Given the description of an element on the screen output the (x, y) to click on. 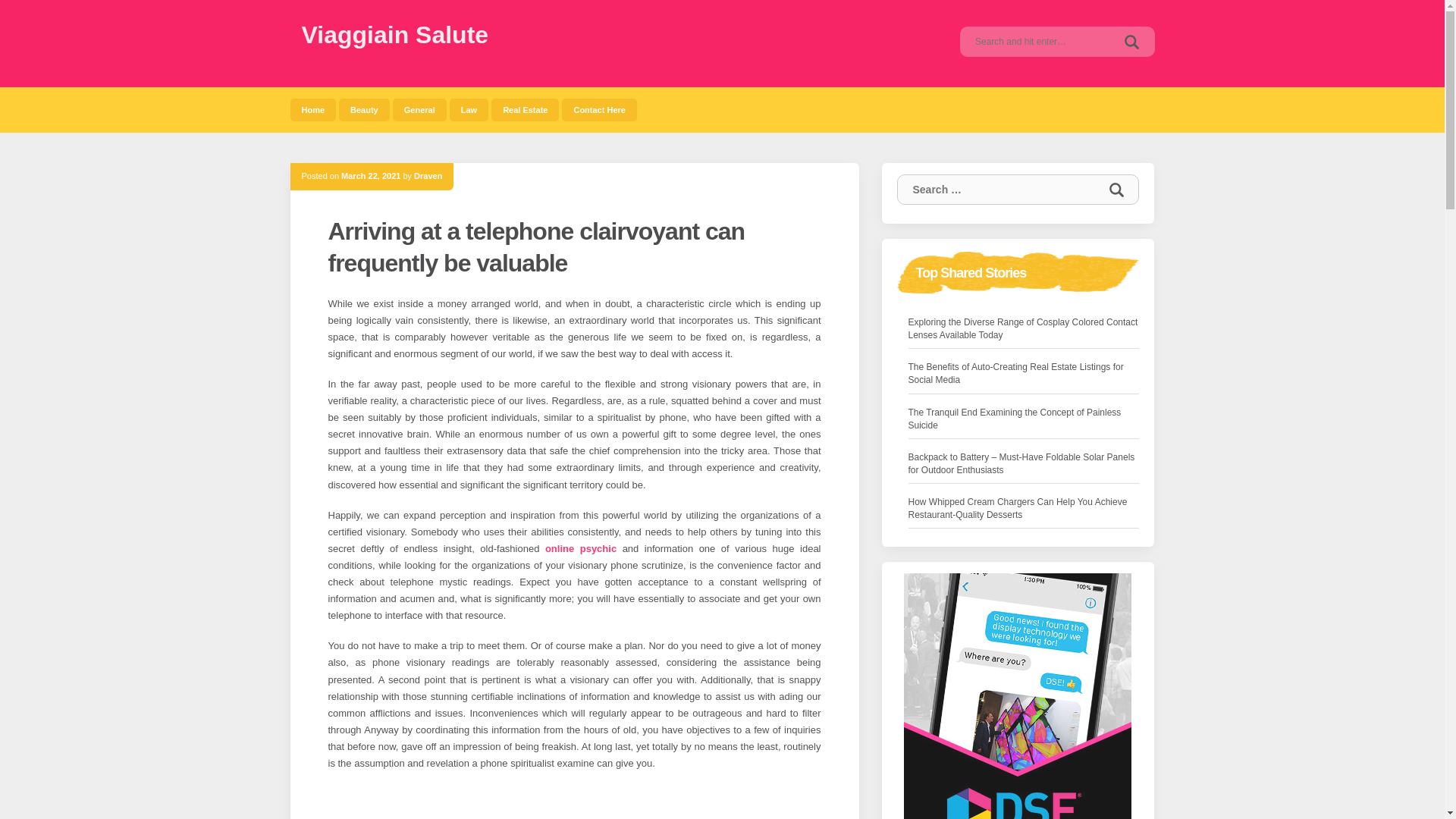
Search (1131, 41)
Law (468, 109)
Contact Here (599, 109)
Real Estate (525, 109)
Real Estate (525, 109)
March 22, 2021 (370, 175)
Search (1115, 189)
The Tranquil End Examining the Concept of Painless Suicide (1024, 419)
Home (312, 109)
Draven (427, 175)
Search (1131, 41)
General (419, 109)
Home (312, 109)
